Given the description of an element on the screen output the (x, y) to click on. 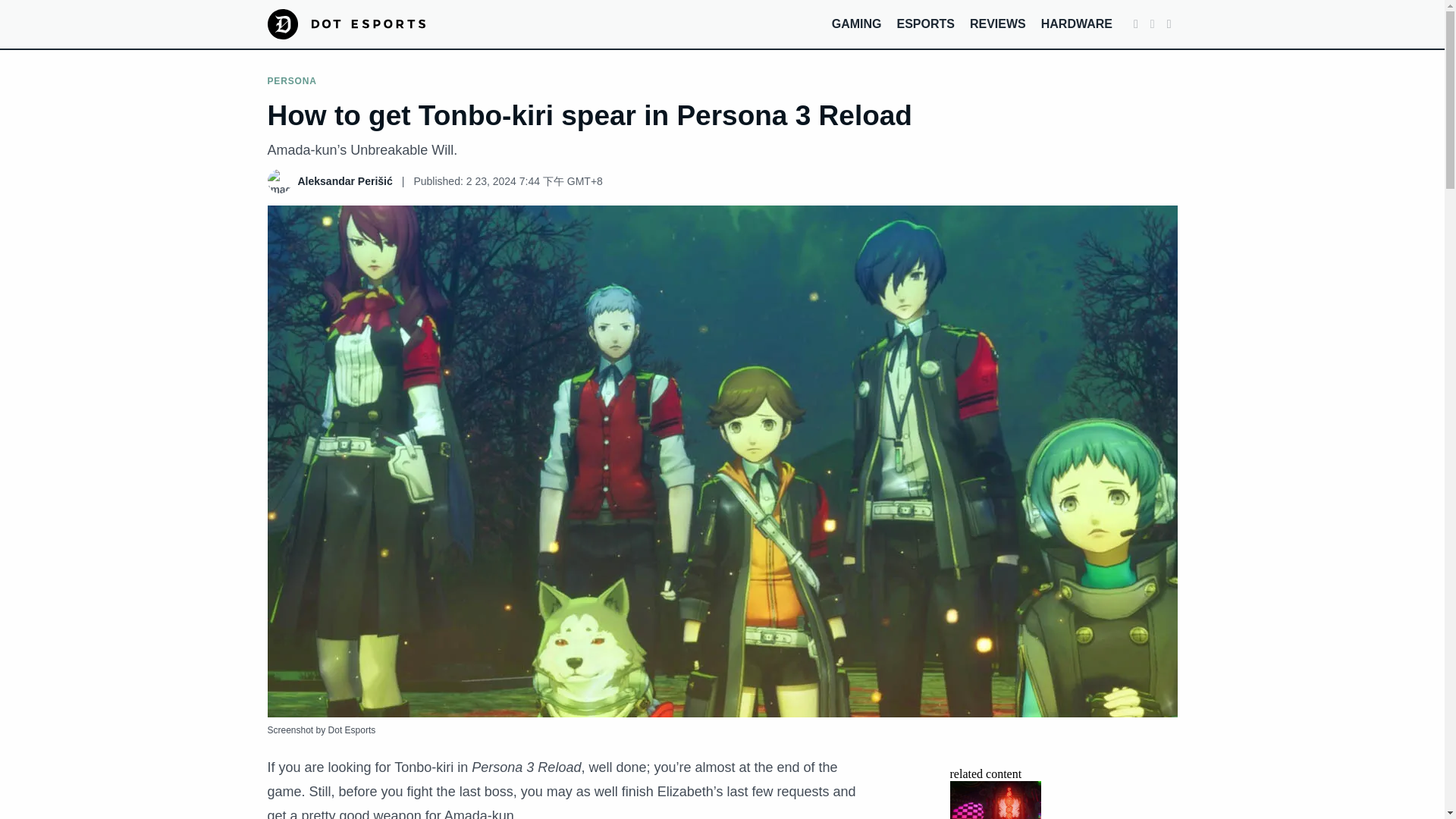
REVIEWS (997, 23)
ESPORTS (924, 23)
HARDWARE (1076, 23)
GAMING (856, 23)
